Given the description of an element on the screen output the (x, y) to click on. 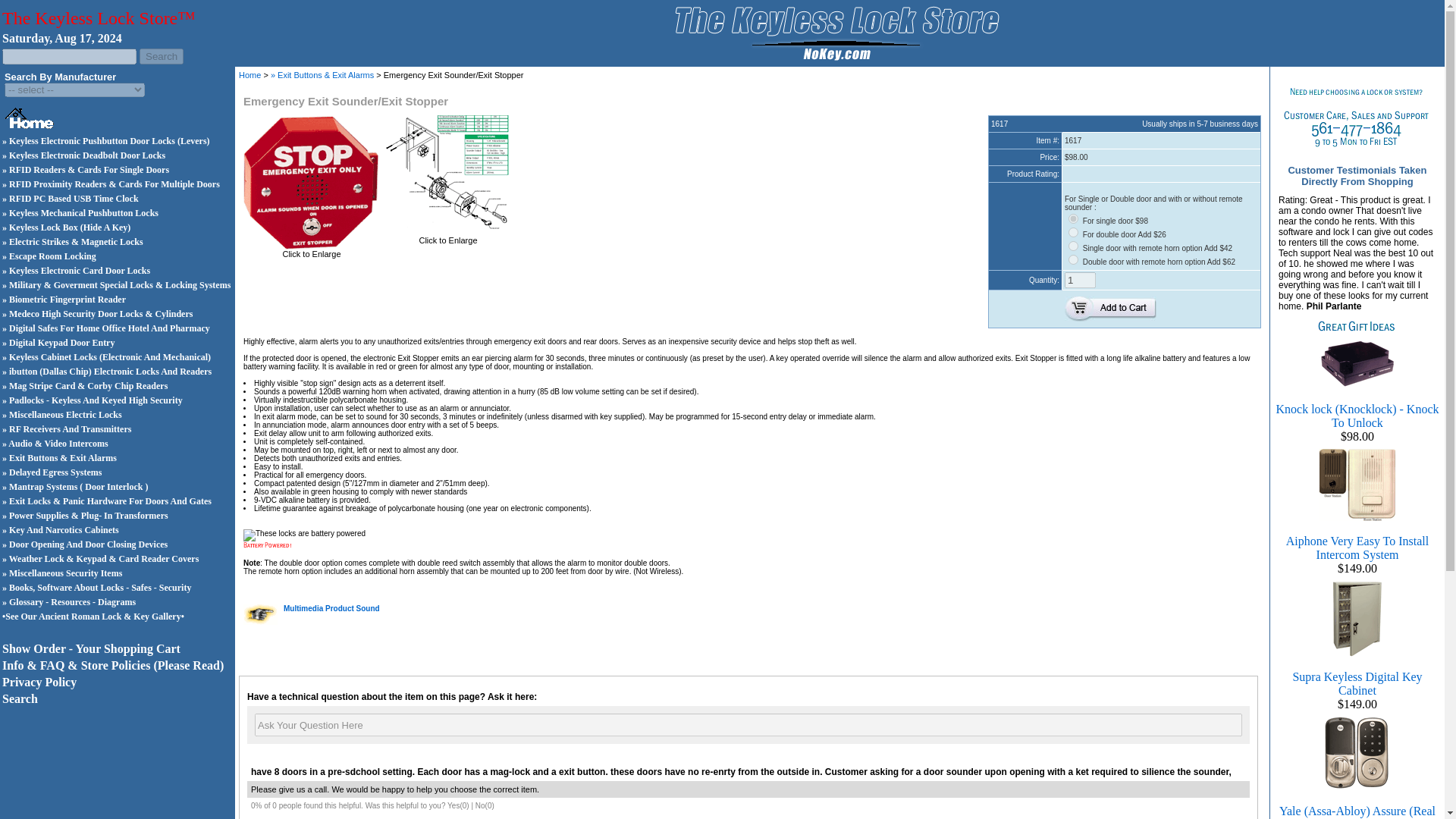
Search (161, 56)
1 (1080, 279)
Search (161, 56)
Privacy Policy (39, 681)
Ask Your Question Here (747, 724)
Show Order - Your Shopping Cart (91, 648)
Search (19, 698)
